Given the description of an element on the screen output the (x, y) to click on. 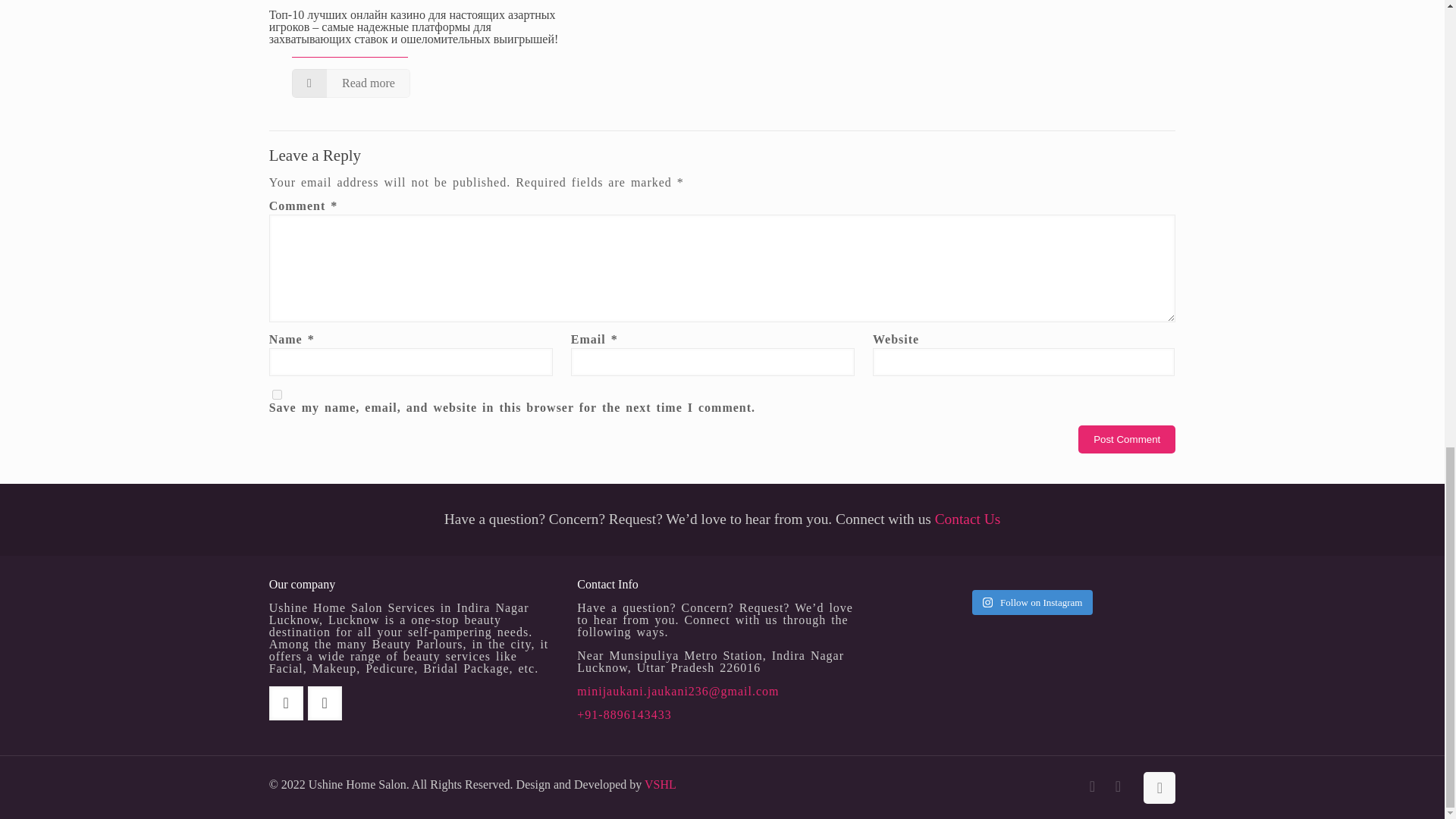
Instagram (1117, 787)
Read more (351, 82)
VSHL (661, 784)
yes (277, 394)
Facebook (1091, 787)
Post Comment (1126, 439)
Follow on Instagram (1032, 602)
Post Comment (1126, 439)
